Given the description of an element on the screen output the (x, y) to click on. 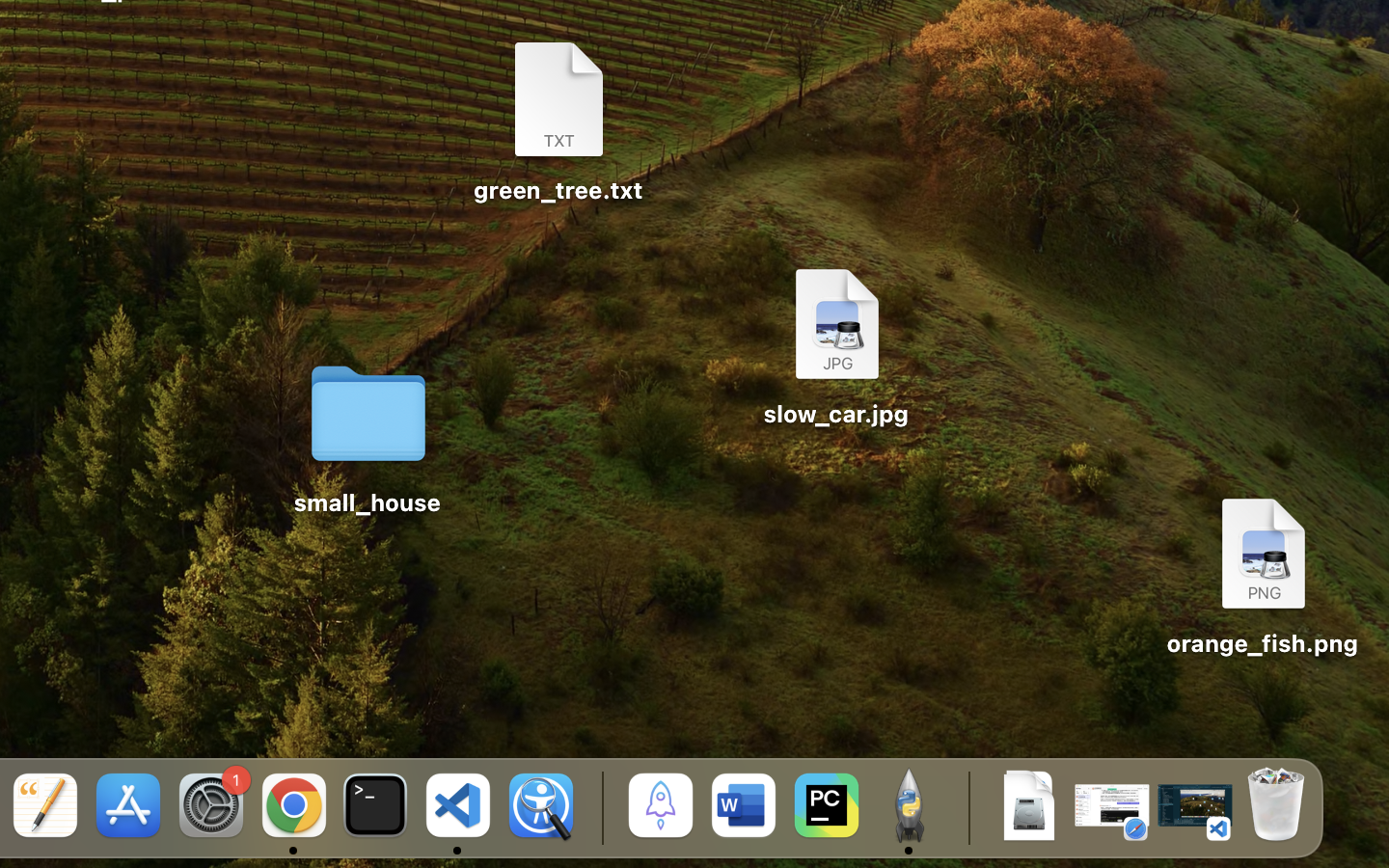
0.4285714328289032 Element type: AXDockItem (598, 807)
